Given the description of an element on the screen output the (x, y) to click on. 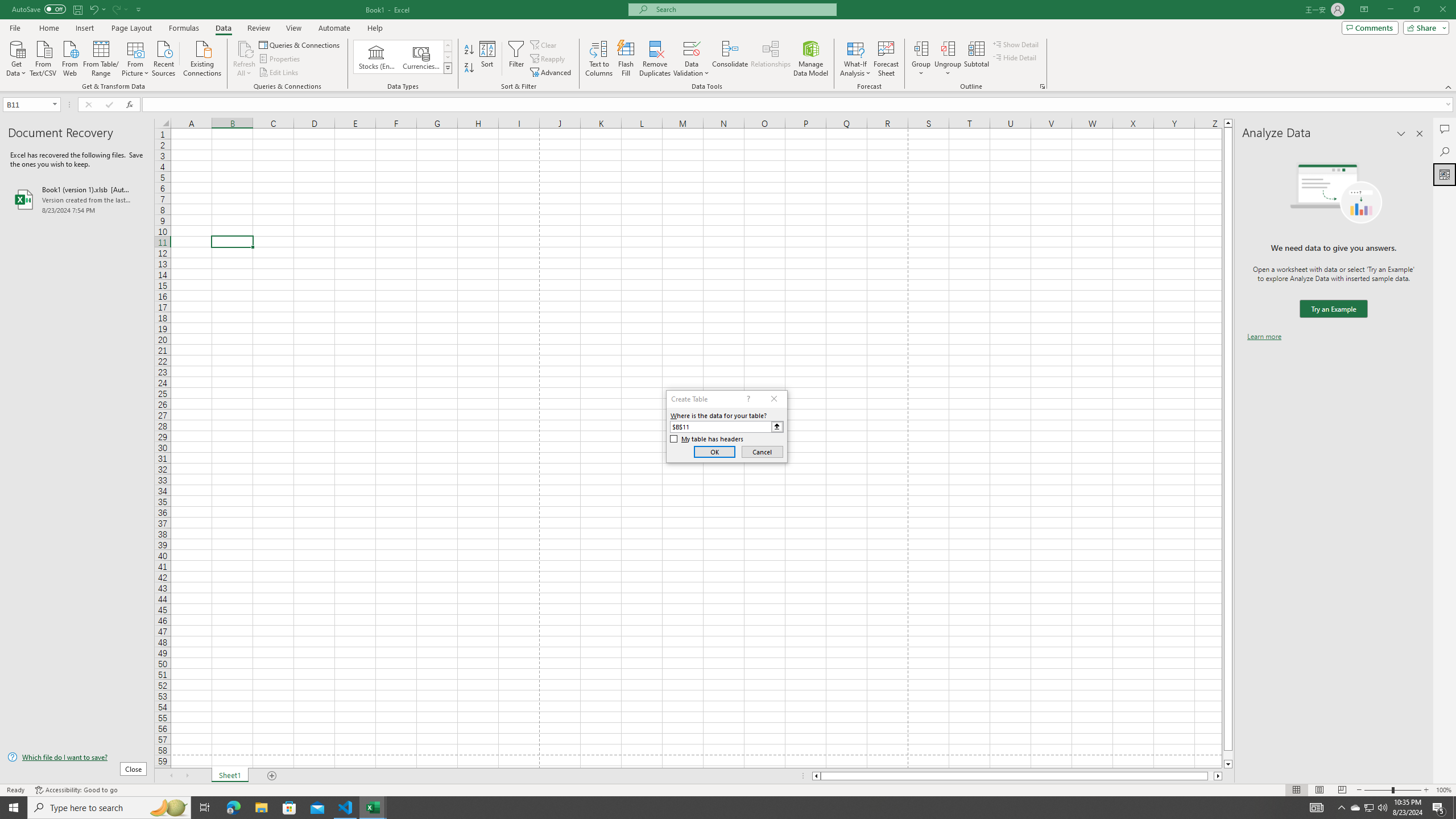
Class: MsoCommandBar (728, 45)
Scroll Left (171, 775)
Comments (1444, 128)
Comments (1369, 27)
Ungroup... (947, 48)
Page down (1228, 755)
Recent Sources (163, 57)
Page Layout (1318, 790)
Currencies (English) (420, 56)
Text to Columns... (598, 58)
Name Box (27, 104)
Refresh All (244, 58)
Get Data (16, 57)
We need data to give you answers. Try an Example (1333, 308)
Close (1442, 9)
